Given the description of an element on the screen output the (x, y) to click on. 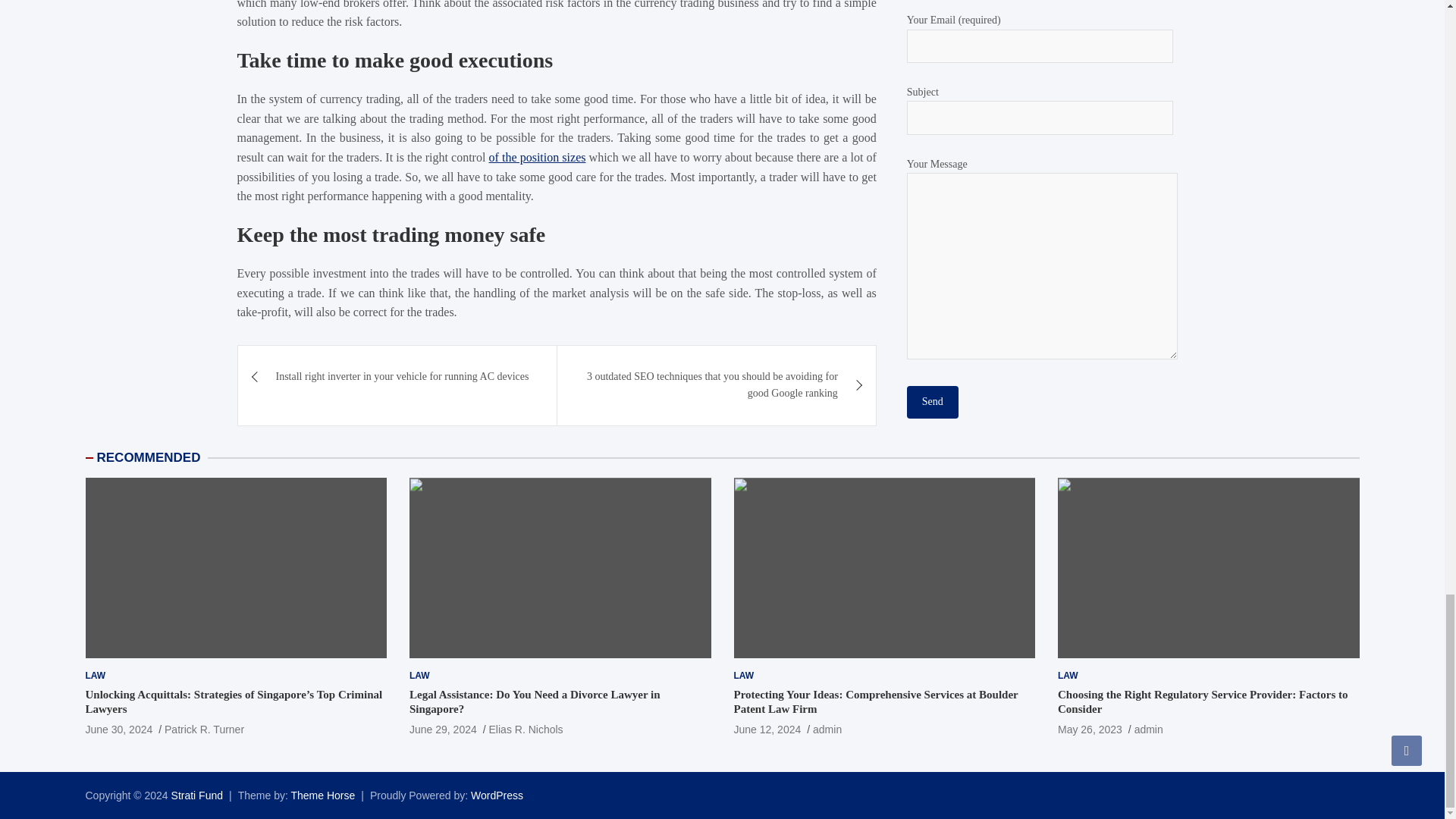
Send (932, 401)
Legal Assistance: Do You Need a Divorce Lawyer in Singapore? (443, 729)
Theme Horse (322, 795)
Strati Fund (196, 795)
WordPress (496, 795)
